Given the description of an element on the screen output the (x, y) to click on. 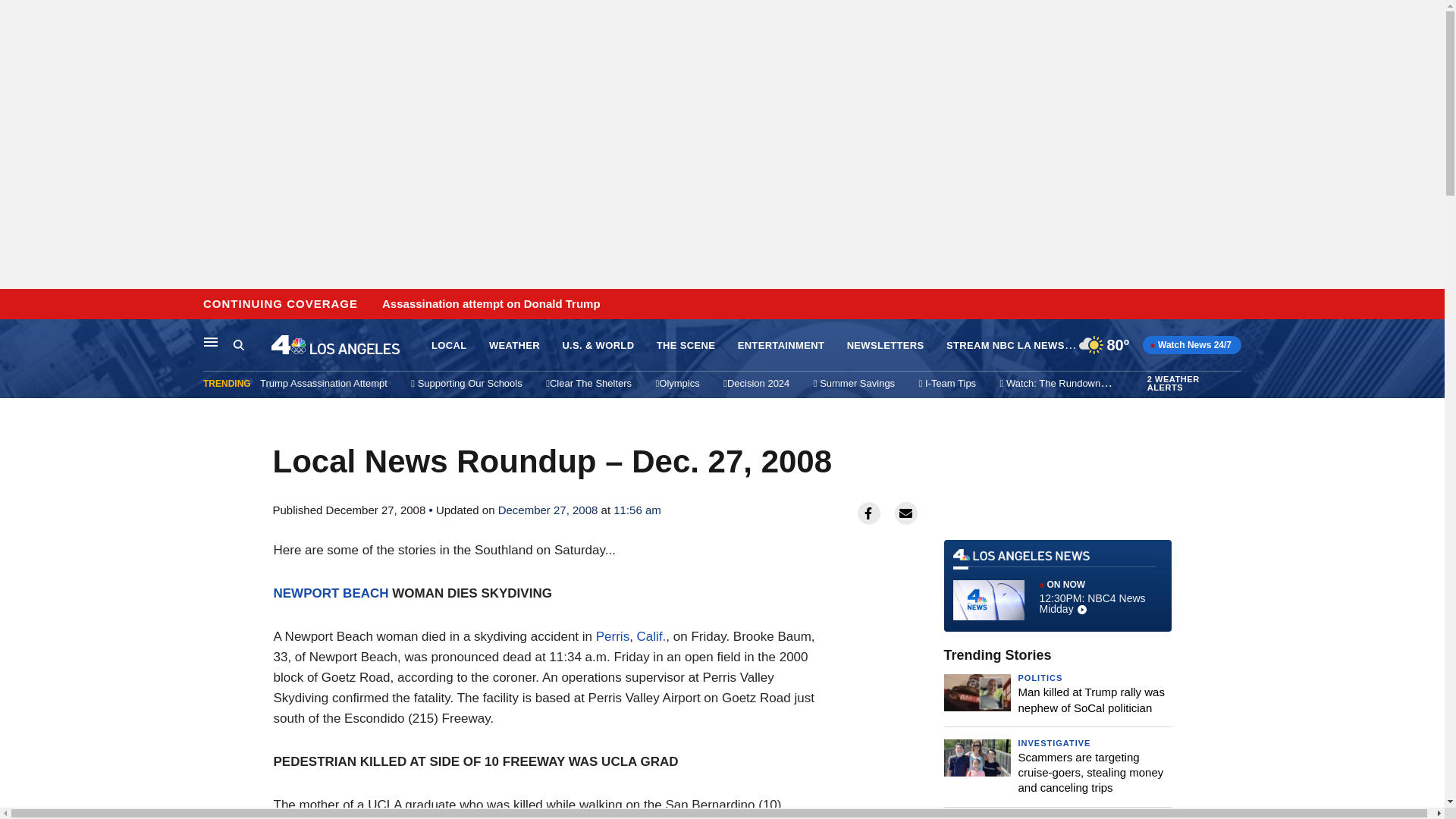
NEWPORT BEACH (330, 593)
Main Navigation (210, 341)
Perris (611, 636)
Search (252, 345)
California (651, 636)
Trump Assassination Attempt (323, 383)
Search (238, 344)
NEWSLETTERS (885, 345)
Skip to content (16, 304)
THE SCENE (685, 345)
WEATHER (514, 345)
Calif. (651, 636)
Newport Beach (330, 593)
Assassination attempt on Donald Trump (490, 304)
LOCAL (447, 345)
